Given the description of an element on the screen output the (x, y) to click on. 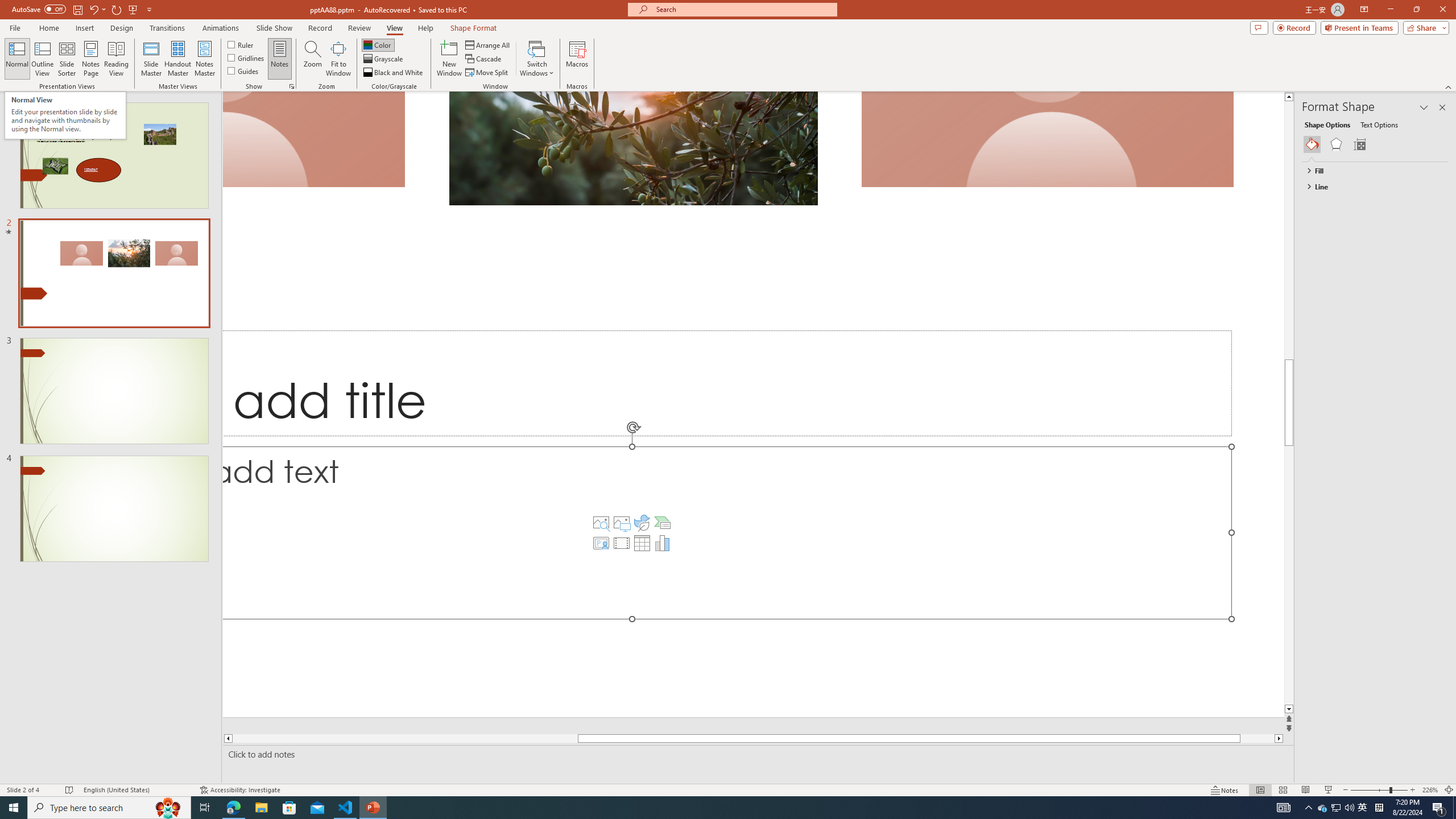
Arrange All (488, 44)
Insert a SmartArt Graphic (662, 522)
Fill & Line (1311, 144)
Camera 7, No camera detected. (1047, 139)
Insert Video (621, 542)
Notes Page (90, 58)
Notes Master (204, 58)
Insert Table (641, 542)
